Given the description of an element on the screen output the (x, y) to click on. 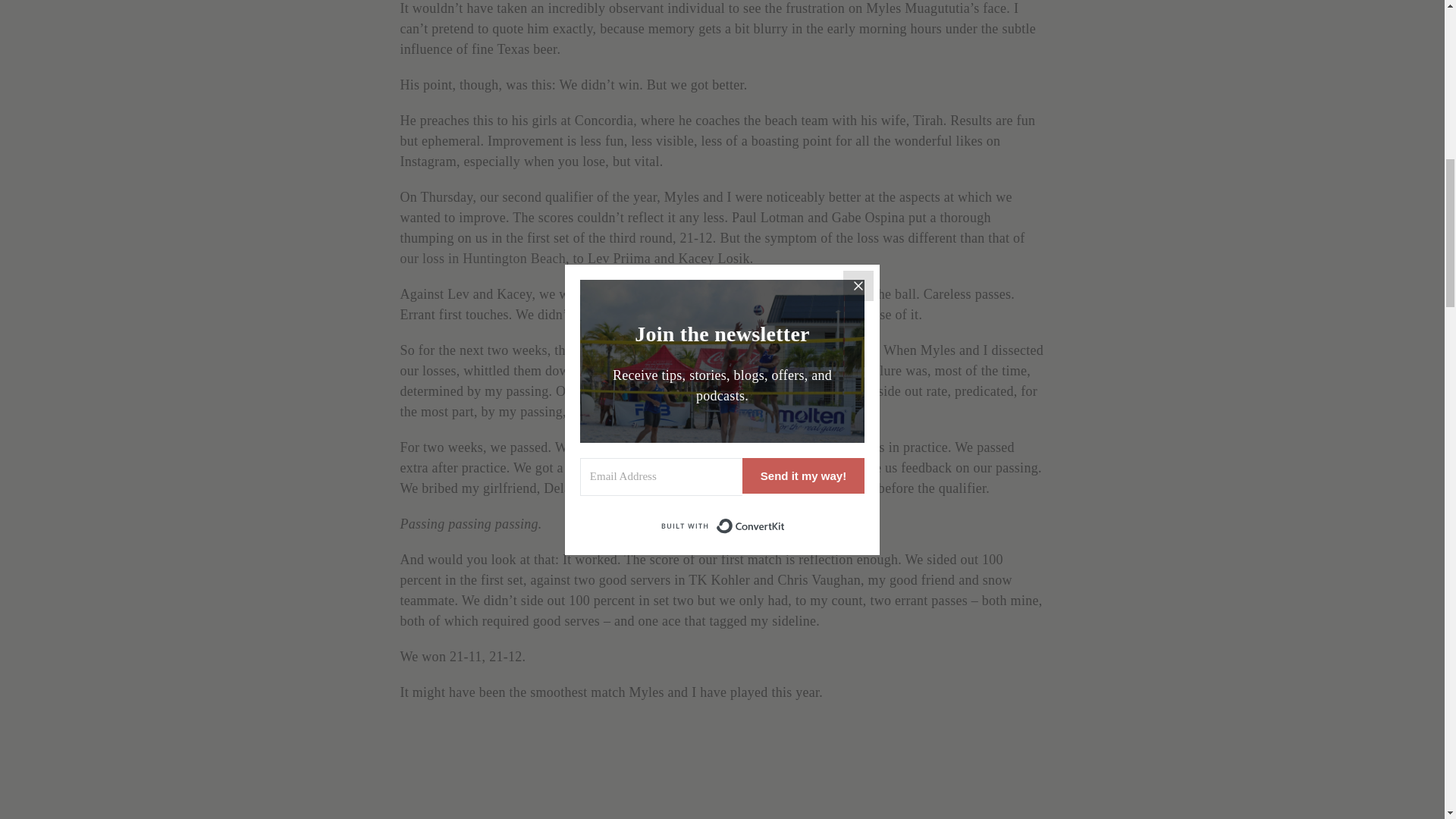
our loss in Huntington Beach (483, 257)
